Given the description of an element on the screen output the (x, y) to click on. 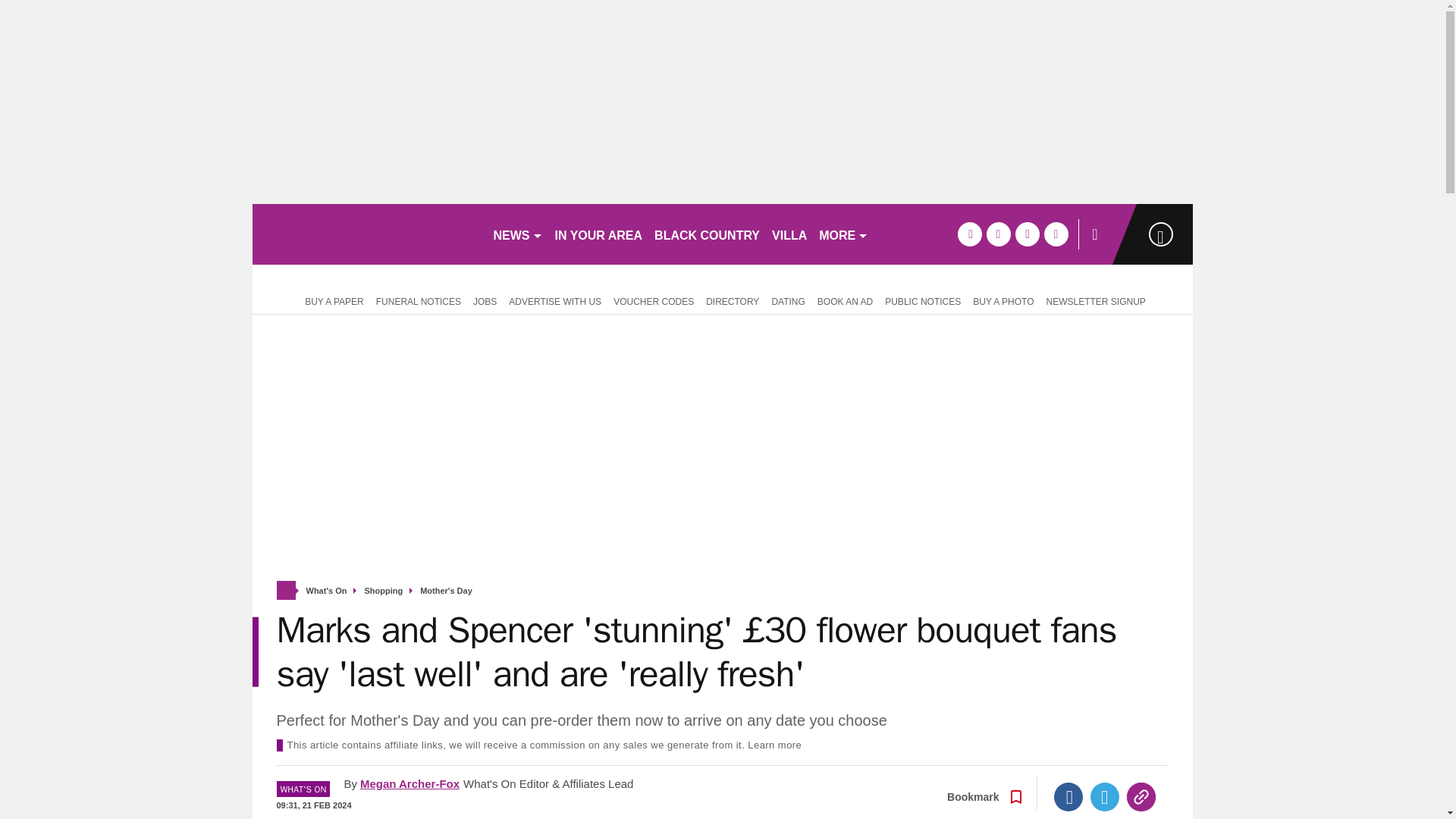
twitter (997, 233)
tiktok (1026, 233)
instagram (1055, 233)
facebook (968, 233)
NEWS (517, 233)
MORE (843, 233)
BLACK COUNTRY (706, 233)
birminghammail (365, 233)
IN YOUR AREA (598, 233)
Twitter (1104, 796)
